Given the description of an element on the screen output the (x, y) to click on. 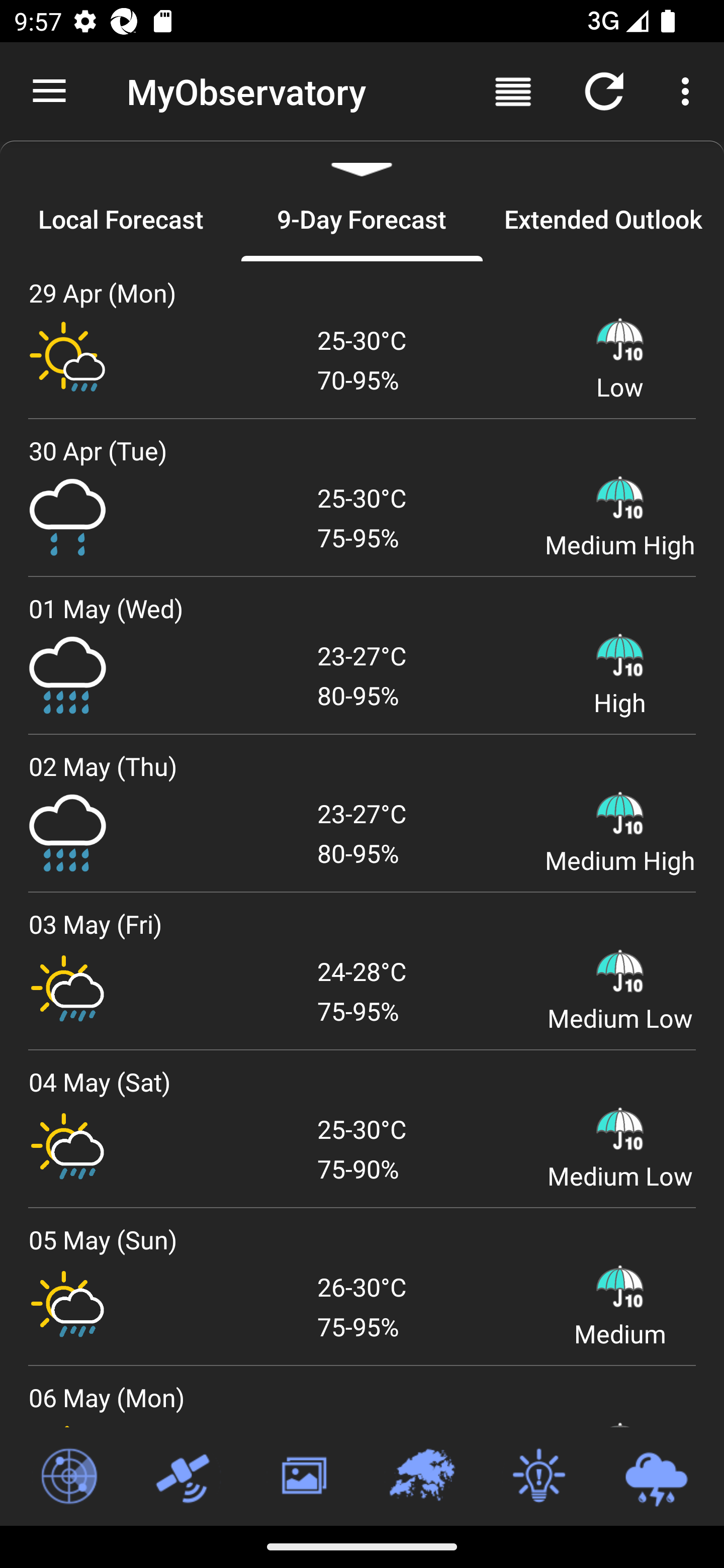
Navigate up (49, 91)
Vertical layout (512, 90)
Refresh (604, 90)
More options (688, 90)
Collapse (362, 159)
Local Forecast (120, 219)
Extended Outlook (603, 219)
Radar Images (68, 1476)
Satellite Images (185, 1476)
Weather Photos (302, 1476)
Regional Weather (420, 1476)
Weather Tips (537, 1476)
Loc-based Rain & Lightning Forecast (655, 1476)
